Given the description of an element on the screen output the (x, y) to click on. 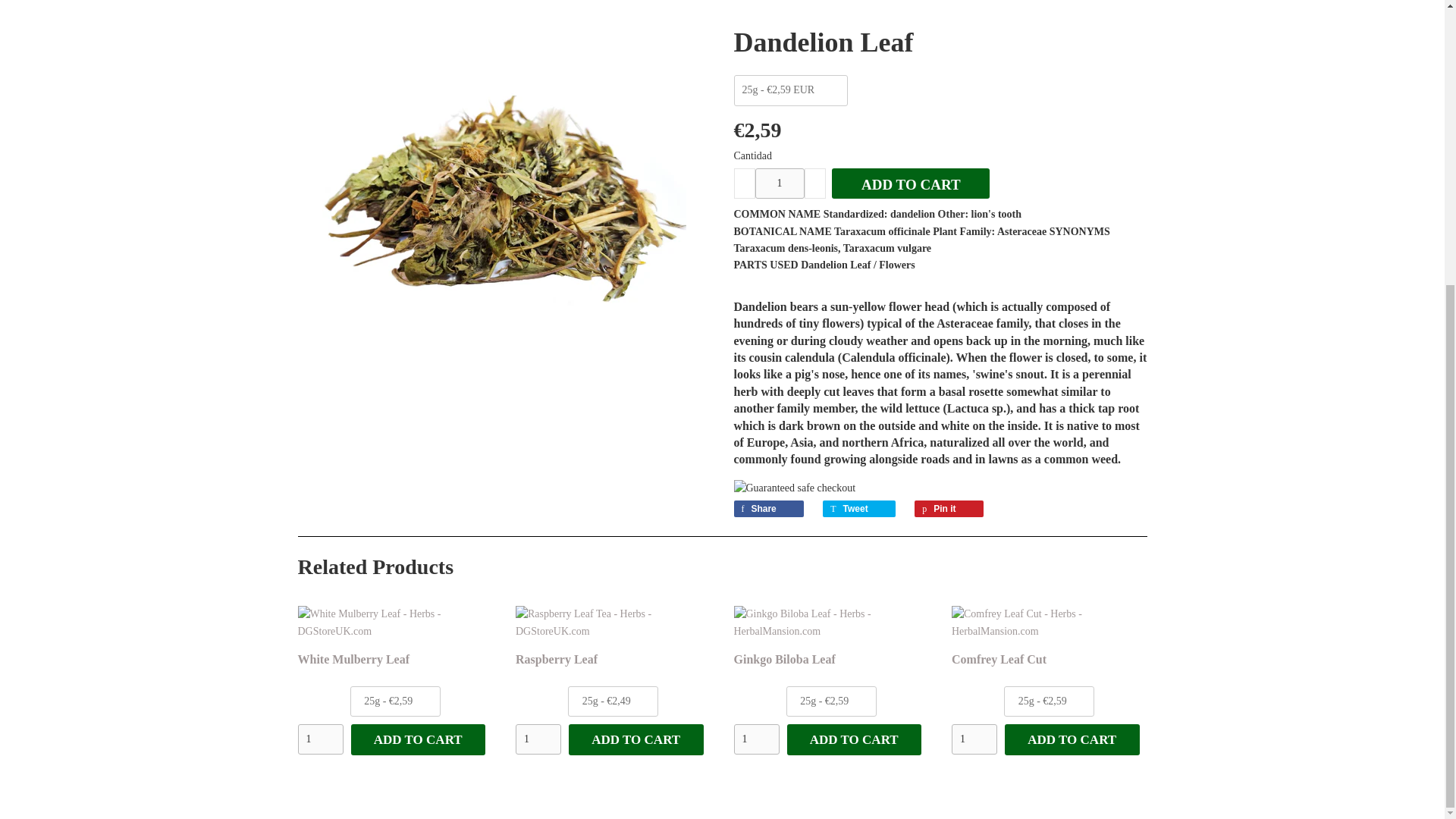
1 (537, 738)
1 (974, 738)
1 (780, 183)
1 (319, 738)
1 (755, 738)
